Given the description of an element on the screen output the (x, y) to click on. 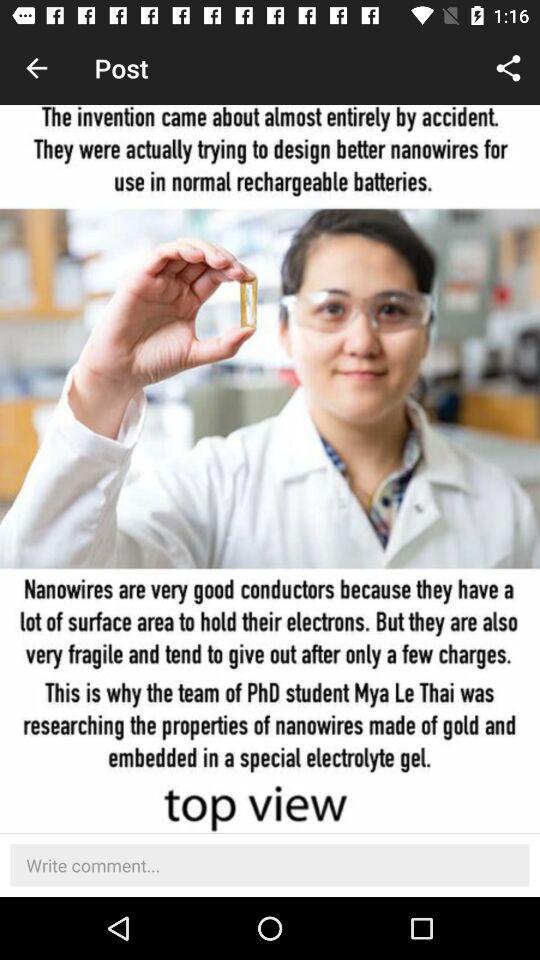
open the item at the top right corner (508, 67)
